Given the description of an element on the screen output the (x, y) to click on. 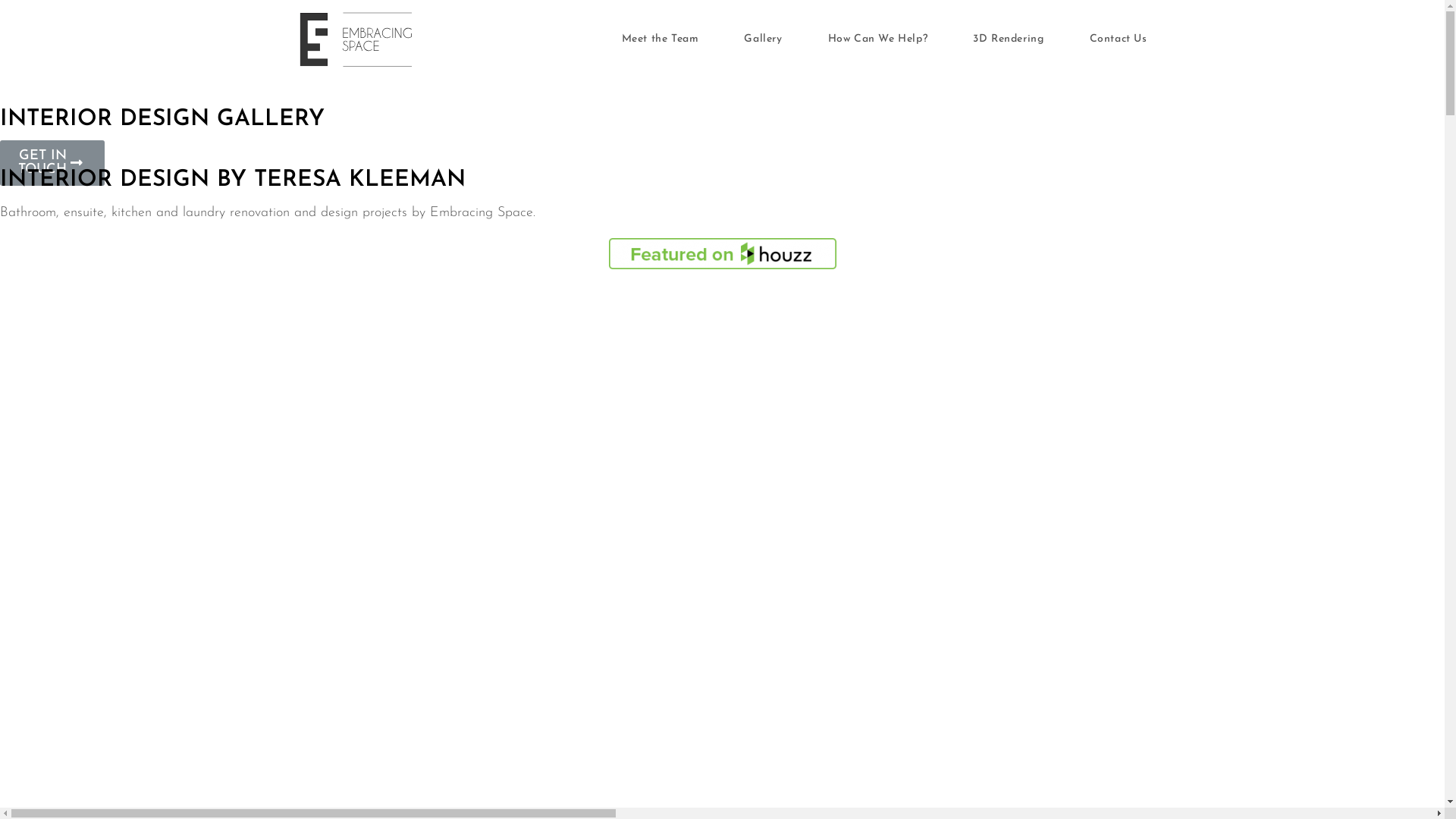
Gallery Element type: text (762, 39)
Contact Us Element type: text (1117, 39)
How Can We Help? Element type: text (878, 39)
Meet the Team Element type: text (660, 39)
3D Rendering Element type: text (1007, 39)
GET IN TOUCH Element type: text (52, 162)
